Given the description of an element on the screen output the (x, y) to click on. 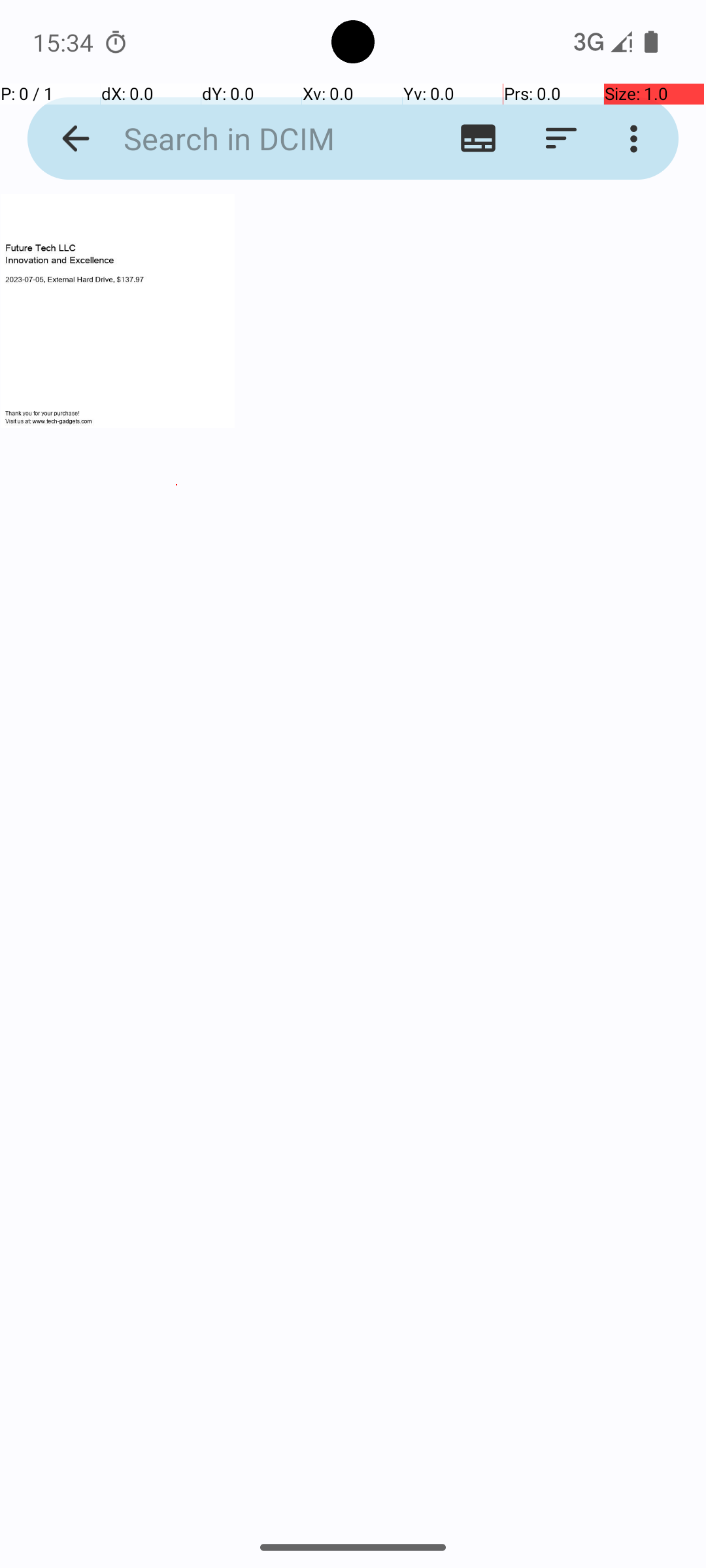
Search in DCIM Element type: android.widget.EditText (252, 138)
